Given the description of an element on the screen output the (x, y) to click on. 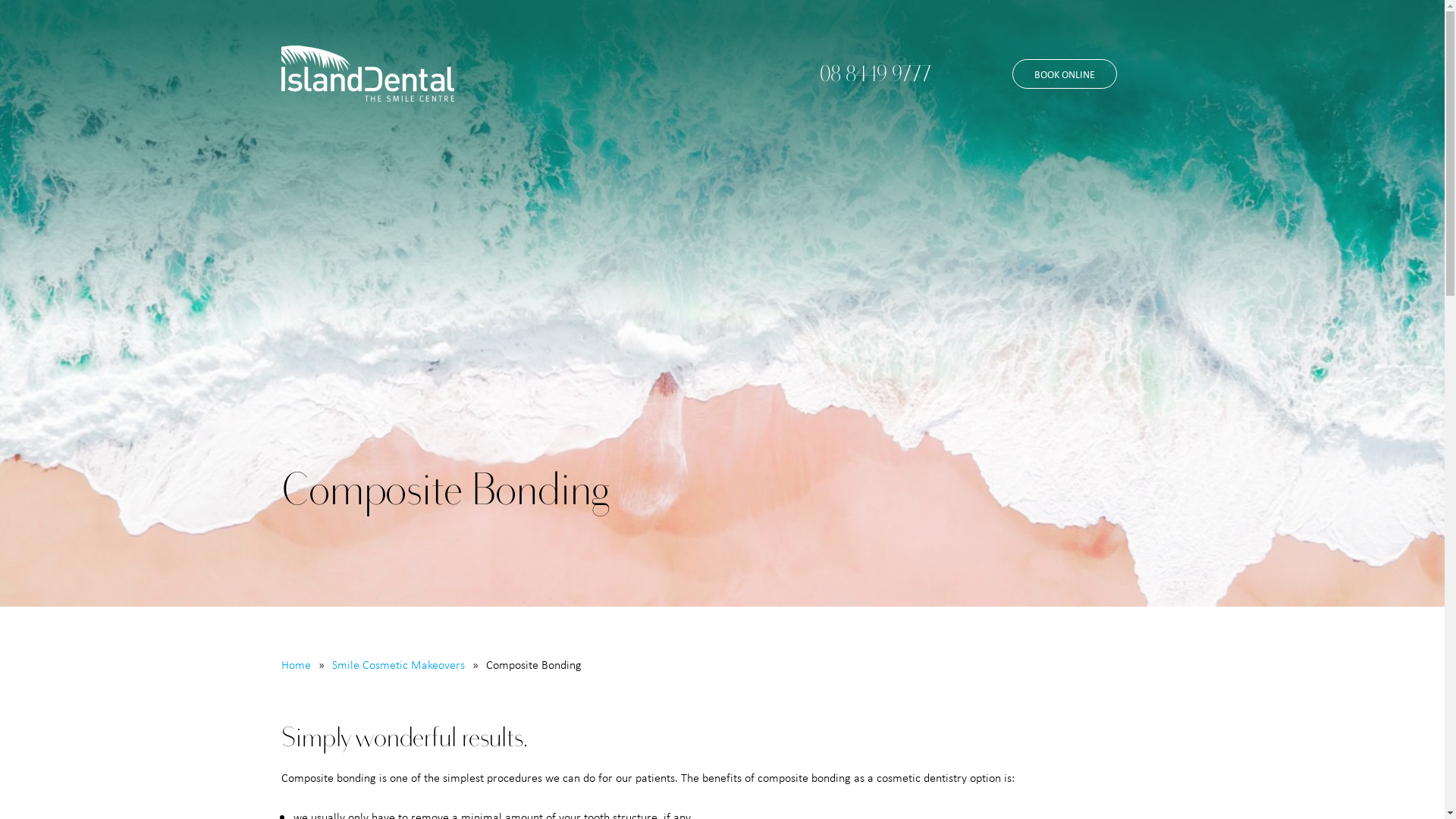
Composite Bonding Element type: text (532, 663)
Home Element type: text (295, 663)
BOOK ONLINE Element type: text (1063, 73)
08 8449 9777 Element type: text (874, 73)
Smile Cosmetic Makeovers Element type: text (398, 663)
